Given the description of an element on the screen output the (x, y) to click on. 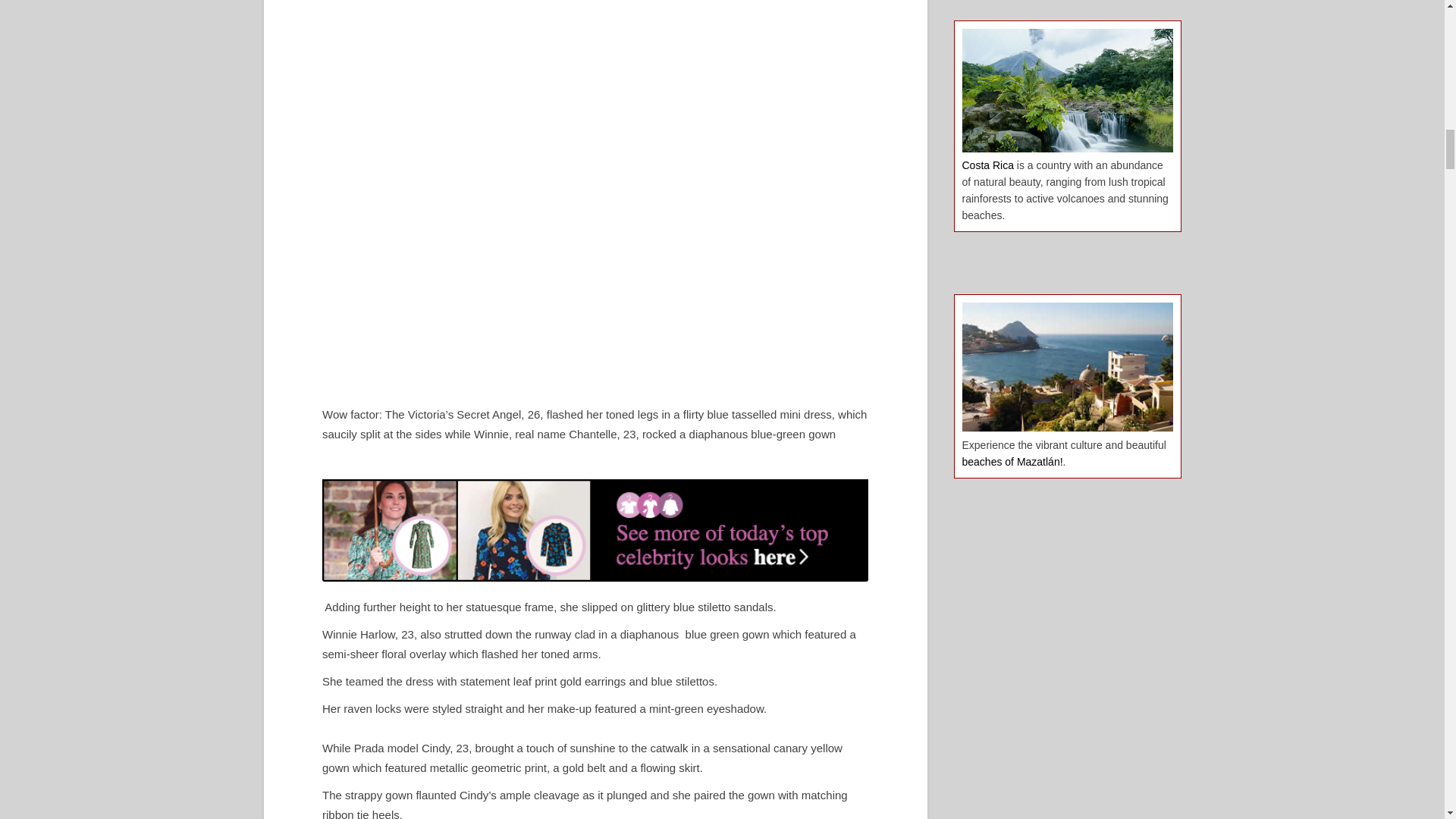
Costa Rica (986, 164)
